Given the description of an element on the screen output the (x, y) to click on. 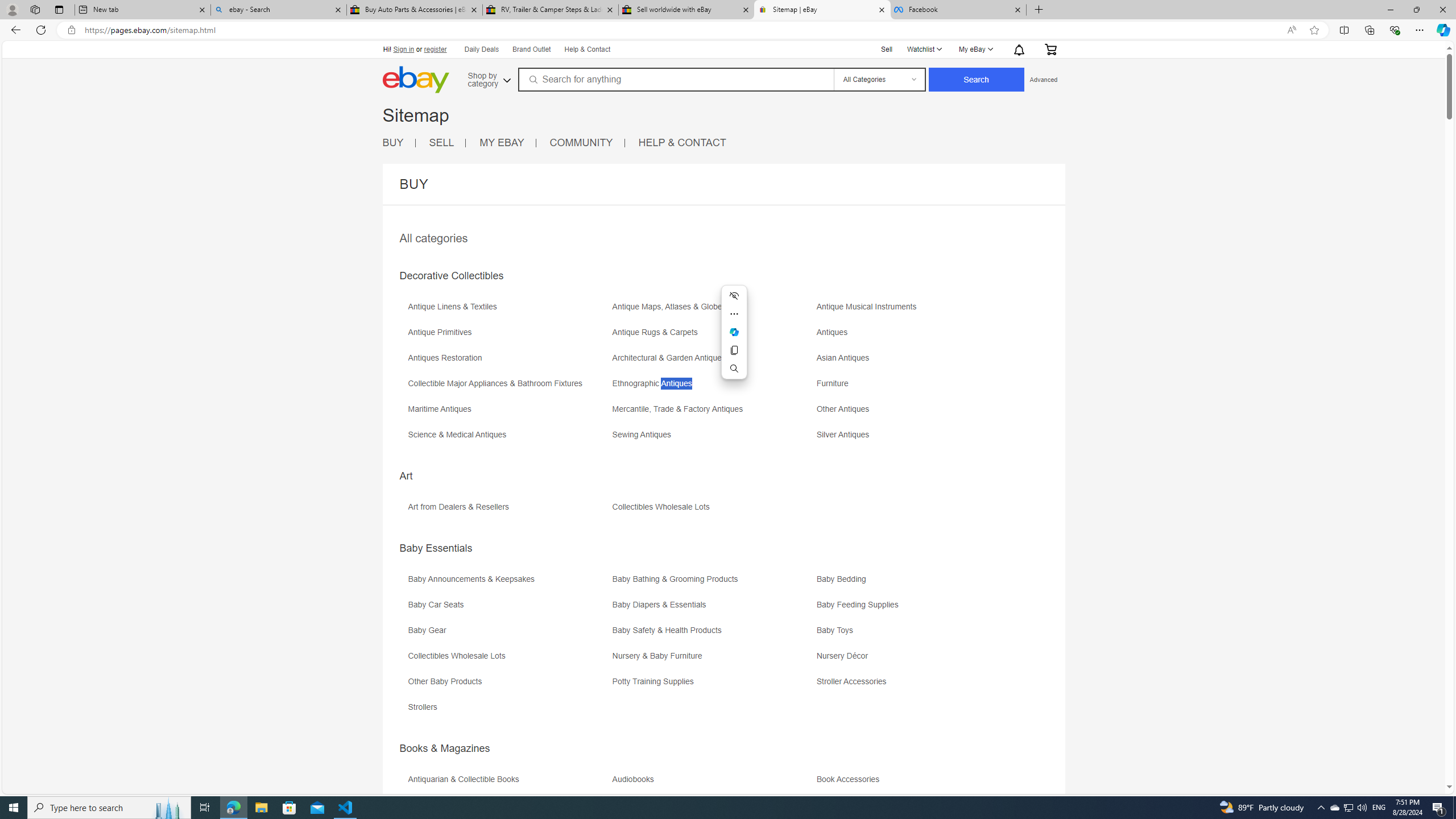
Baby Feeding Supplies (917, 608)
Baby Essentials (435, 547)
Other Antiques (917, 412)
Maritime Antiques (508, 412)
Silver Antiques (845, 434)
Stroller Accessories (854, 681)
Daily Deals (480, 49)
Audiobooks (635, 779)
Antiquarian & Collectible Books (466, 779)
Brand Outlet (531, 49)
Stroller Accessories (917, 685)
Baby Safety & Health Products (669, 630)
